Given the description of an element on the screen output the (x, y) to click on. 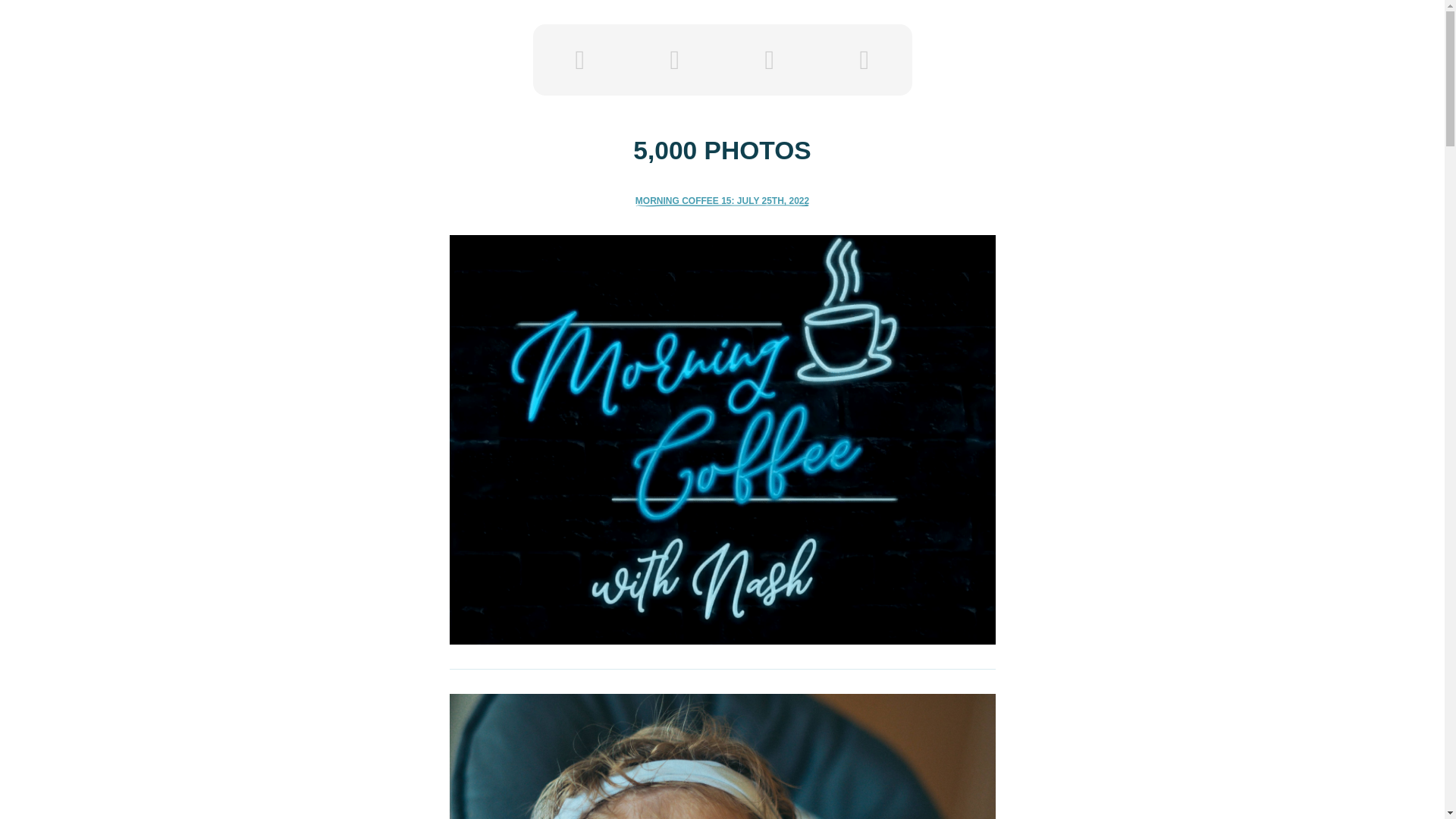
MORNING COFFEE 15: JULY 25TH, 2022 (721, 201)
